Given the description of an element on the screen output the (x, y) to click on. 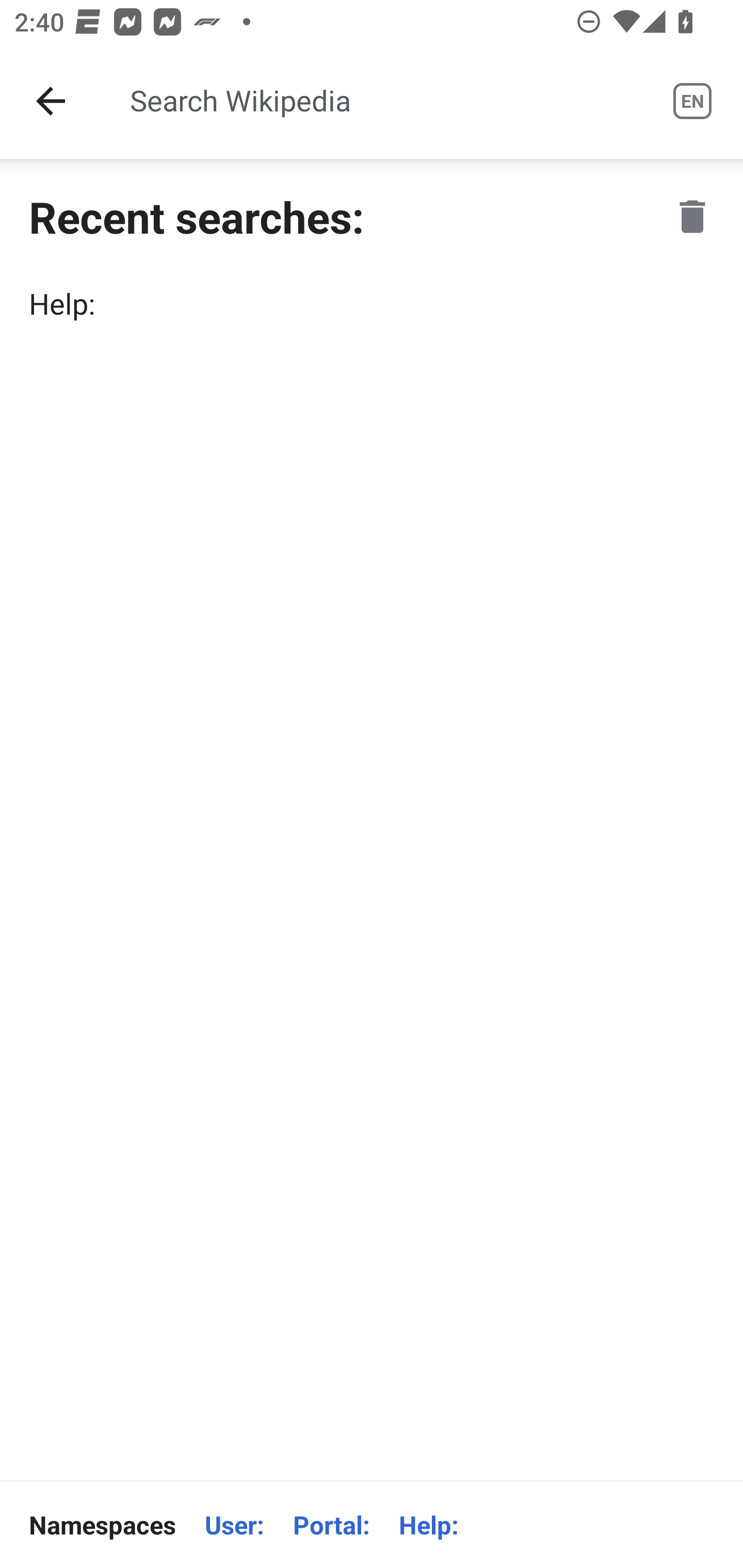
Navigate up (50, 101)
Search Wikipedia (372, 100)
Wikipedia languages EN (692, 100)
Clear history (692, 216)
Help: (371, 303)
Namespaces (102, 1524)
User: (234, 1524)
Portal: (331, 1524)
Help: (428, 1524)
